Given the description of an element on the screen output the (x, y) to click on. 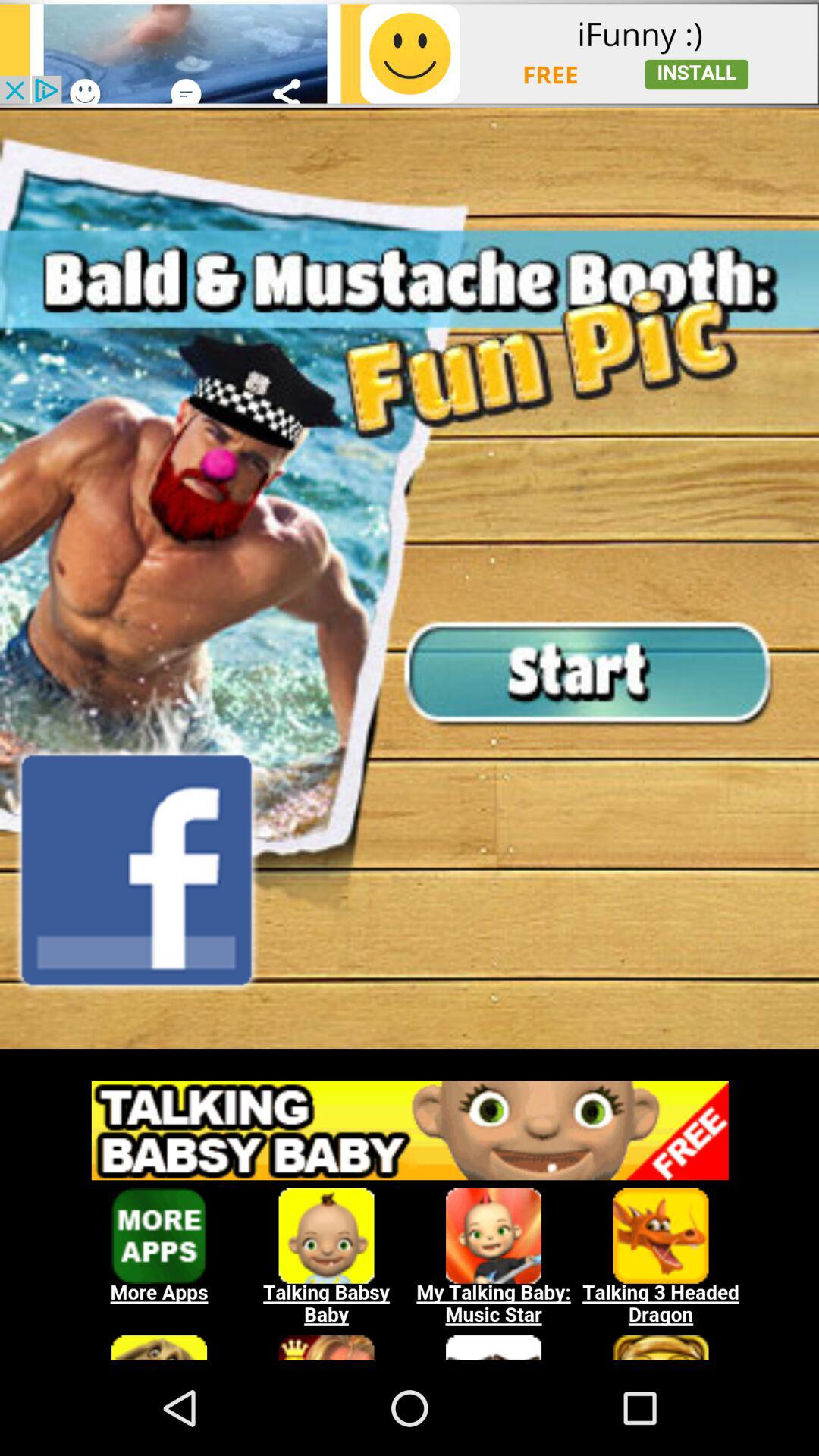
advertisement (409, 53)
